Given the description of an element on the screen output the (x, y) to click on. 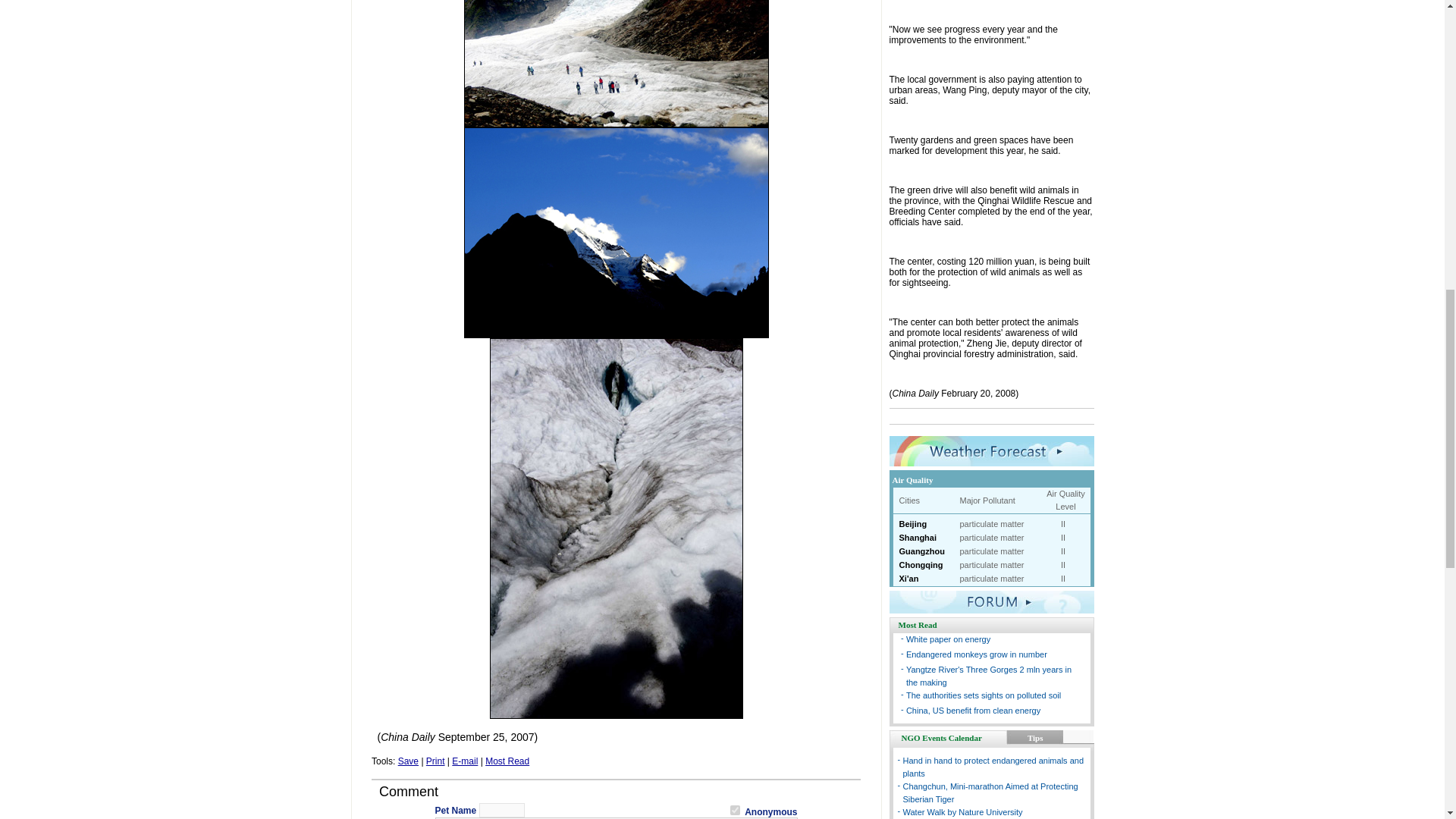
Save (408, 760)
E-mail (464, 760)
1 (734, 809)
Air Quality (912, 479)
Print (435, 760)
Most Read (506, 760)
